Given the description of an element on the screen output the (x, y) to click on. 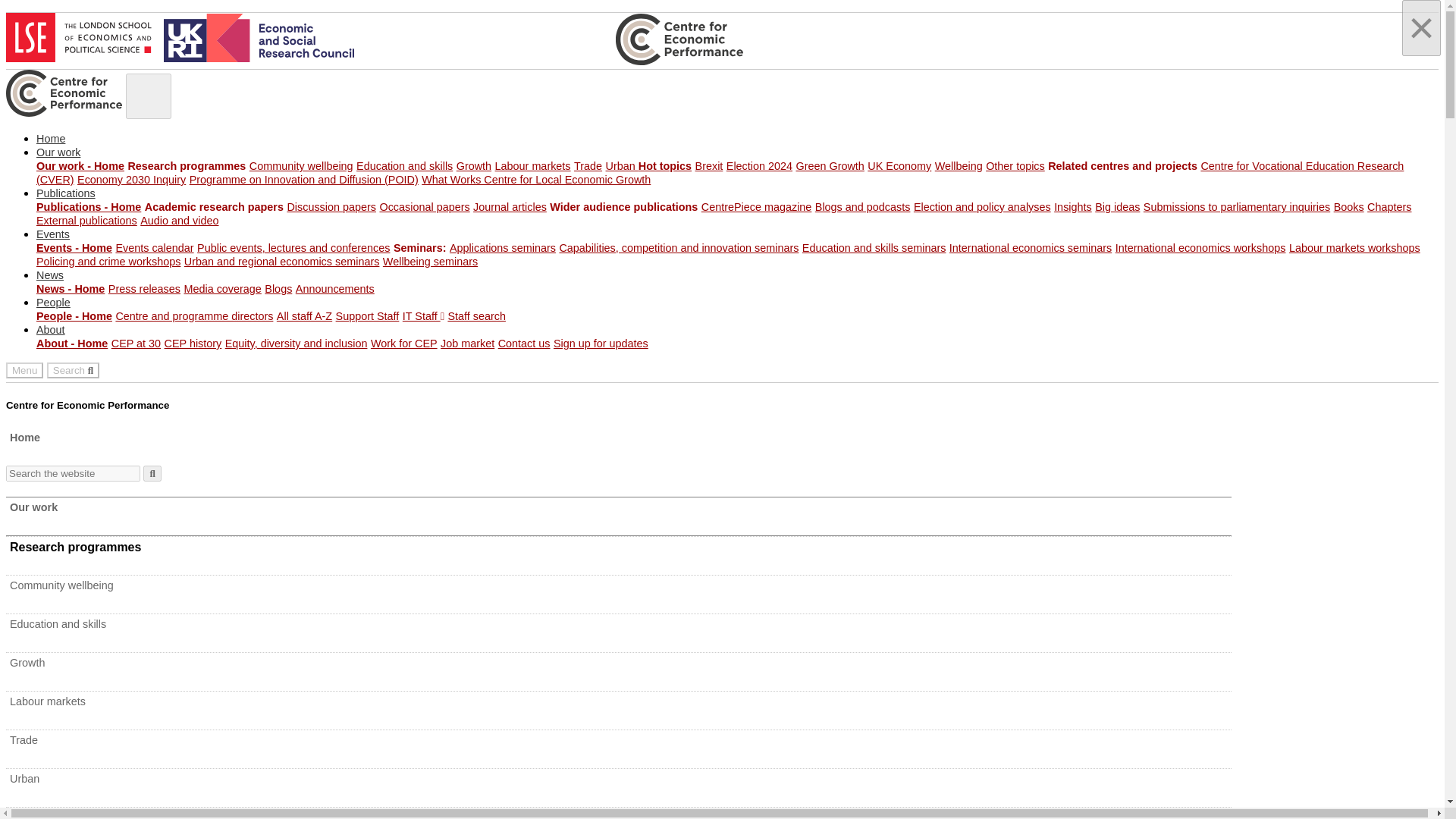
Discussion papers (330, 206)
Occasional papers (423, 206)
Publications - Home (88, 206)
Urban (622, 165)
Wellbeing (958, 165)
CentrePiece magazine (756, 206)
Economy 2030 Inquiry (131, 179)
Our work - Home (79, 165)
Brexit (709, 165)
Academic research papers (213, 206)
Related centres and projects (1122, 165)
Journal articles (510, 206)
Our work (58, 152)
Growth (474, 165)
Research programmes (187, 165)
